Given the description of an element on the screen output the (x, y) to click on. 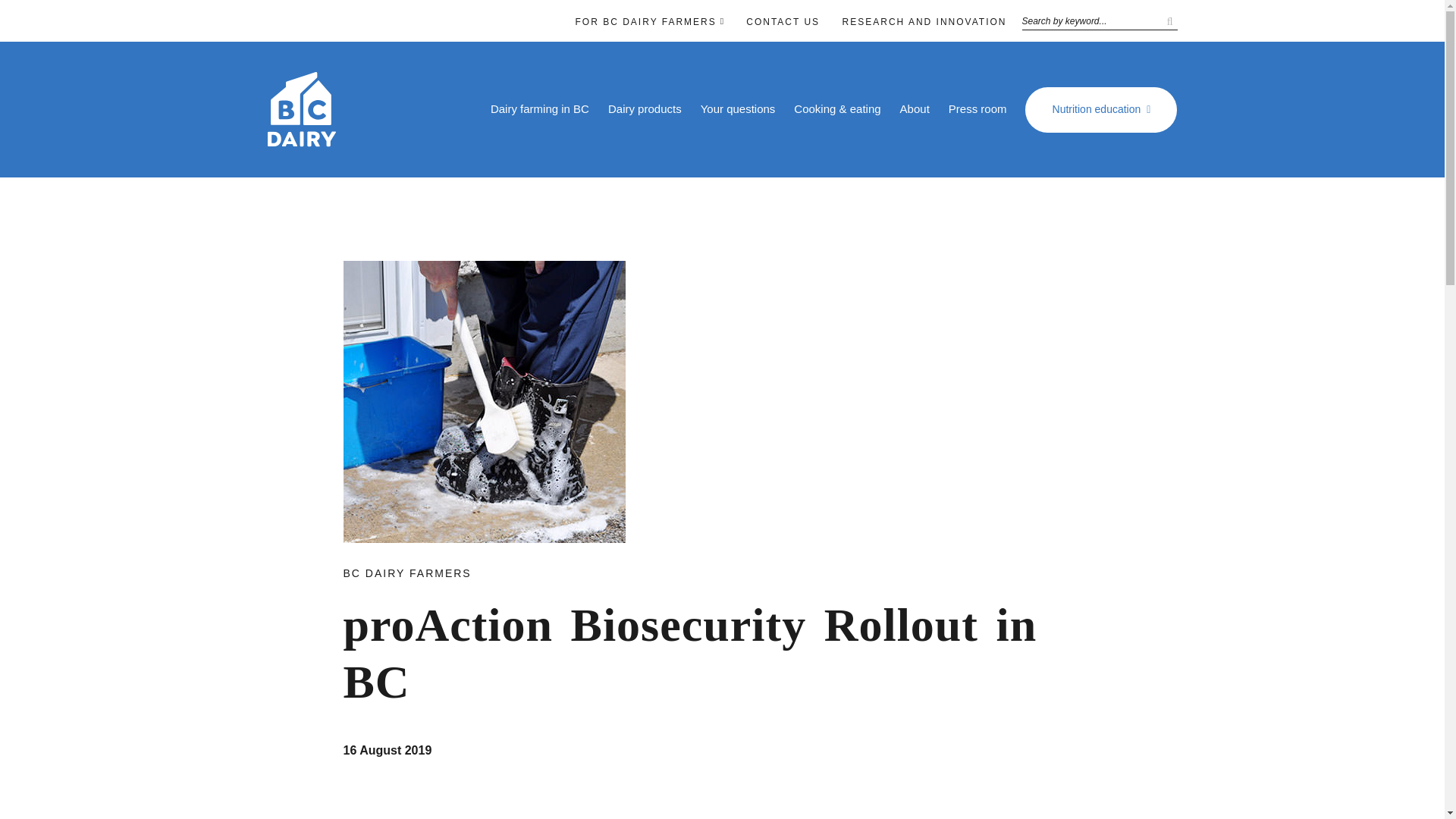
Press room (978, 109)
Nutrition education (1100, 108)
Dairy farming in BC (539, 109)
Your questions (738, 109)
Dairy products (644, 109)
CONTACT US (782, 21)
RESEARCH AND INNOVATION (925, 21)
FOR BC DAIRY FARMERS (645, 21)
BC Dairy (300, 139)
About (914, 109)
